Given the description of an element on the screen output the (x, y) to click on. 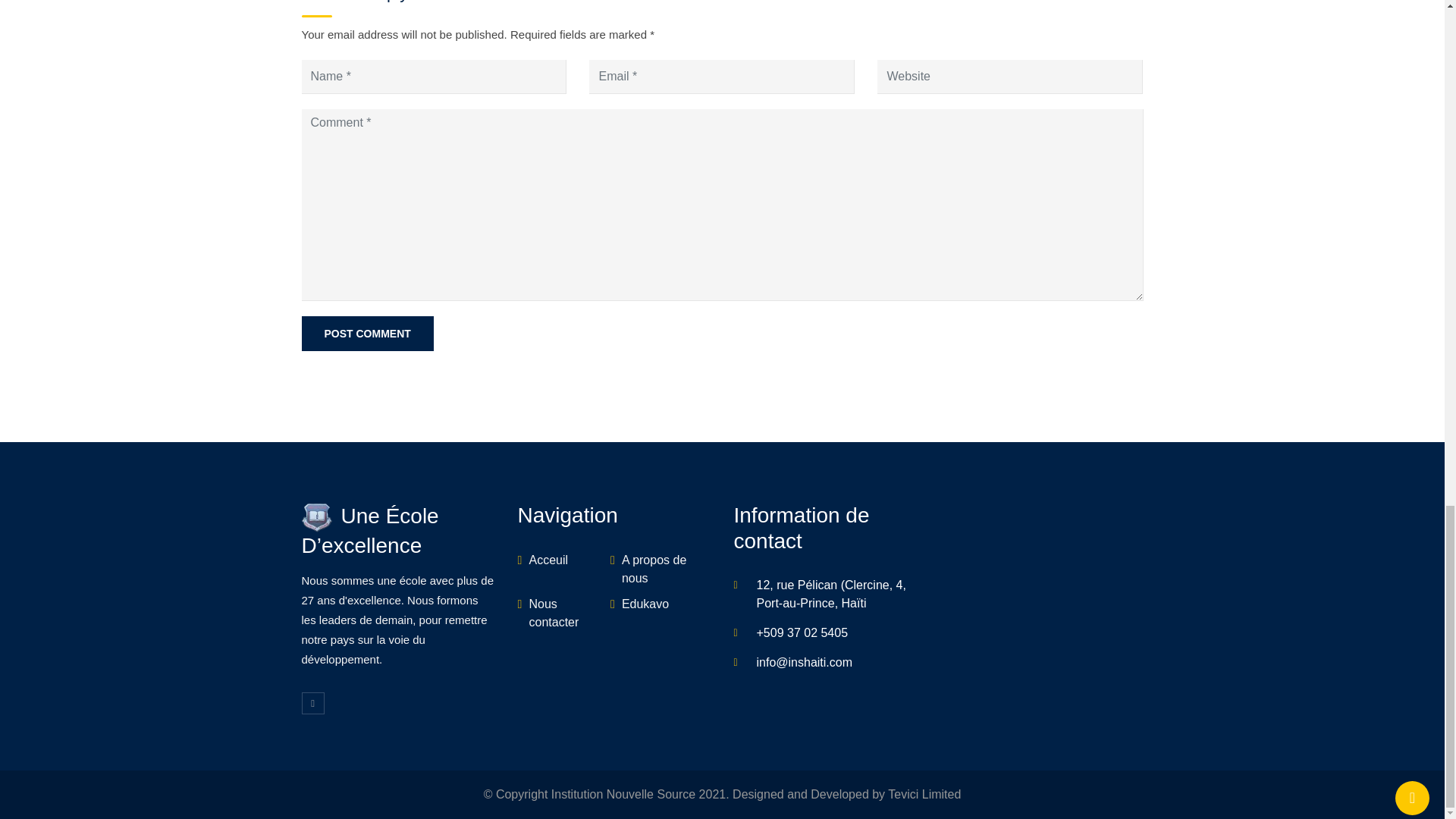
Post Comment (367, 333)
